Given the description of an element on the screen output the (x, y) to click on. 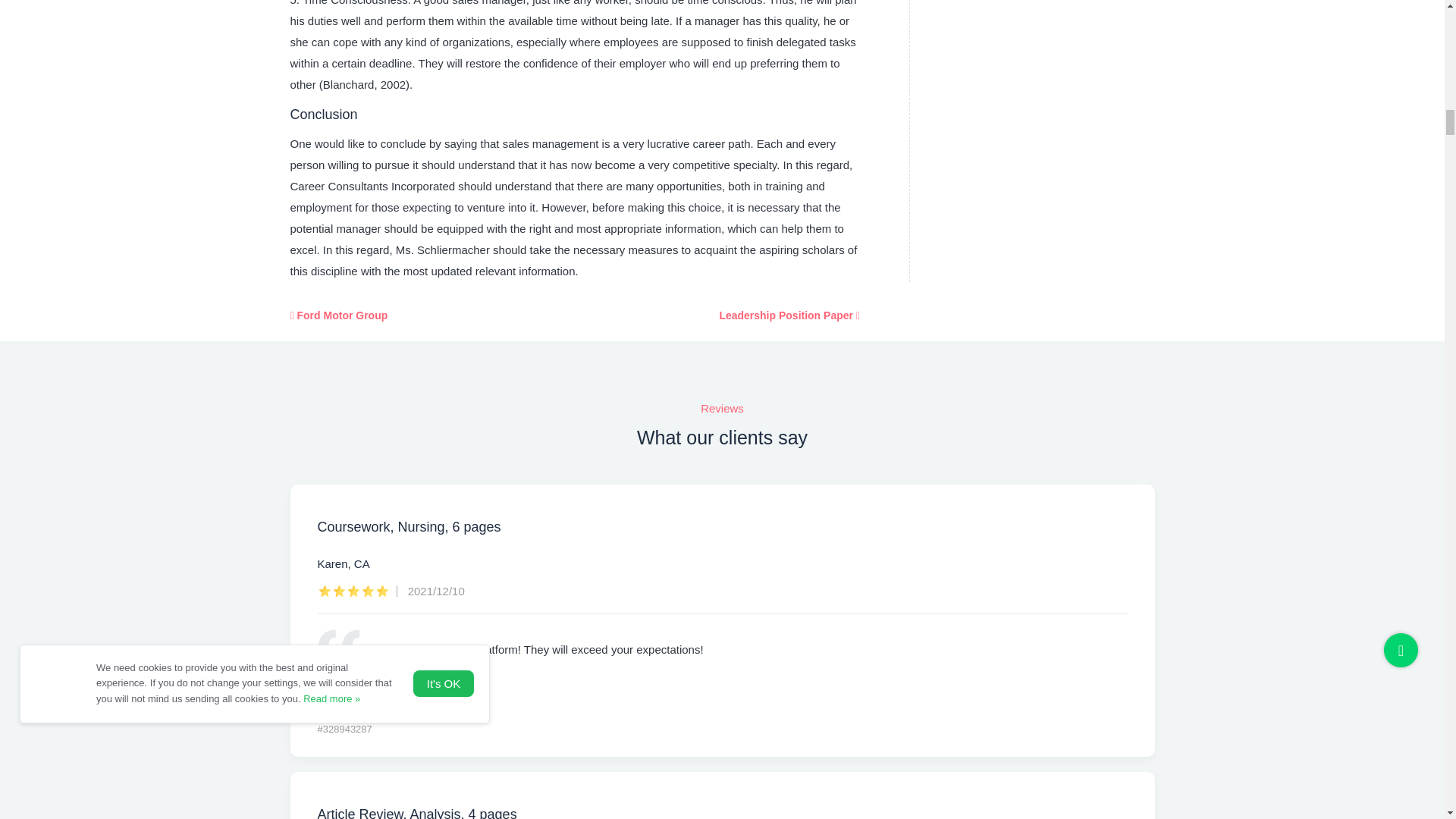
Leadership Position Paper (789, 314)
Ford Motor Group (338, 314)
